Given the description of an element on the screen output the (x, y) to click on. 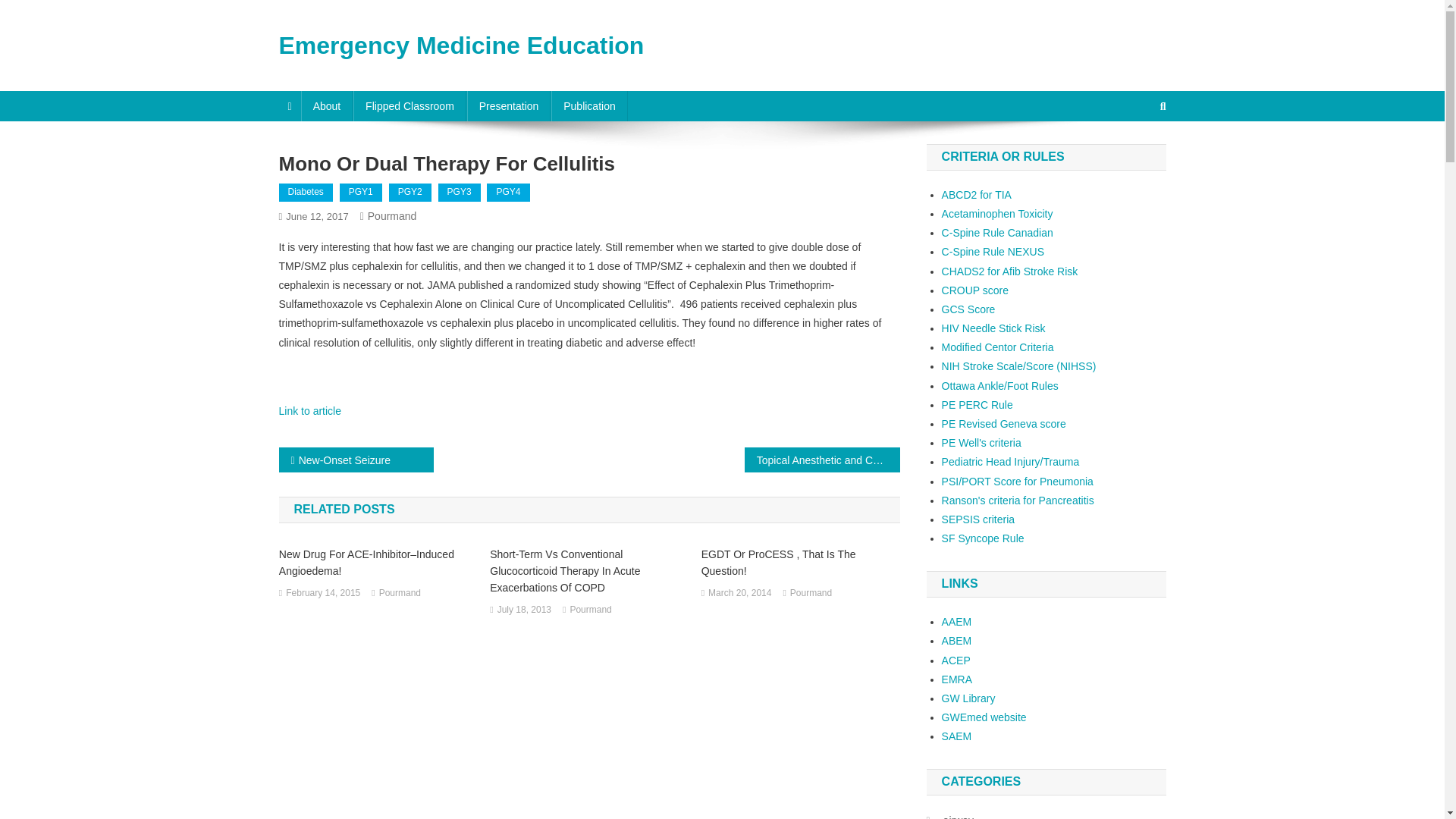
About (327, 105)
Topical Anesthetic and Corneal Abrasion (821, 459)
Presentation (509, 105)
PGY1 (360, 192)
HIV Needle Stick Risk (993, 328)
EGDT Or ProCESS , That Is The Question! (800, 562)
Acetaminophen Toxicity (997, 214)
Search (1133, 156)
June 12, 2017 (316, 215)
Link to article (309, 410)
Emergency Medicine Education (462, 44)
February 14, 2015 (322, 593)
GCS Score (968, 309)
New-Onset Seizure (356, 459)
